Given the description of an element on the screen output the (x, y) to click on. 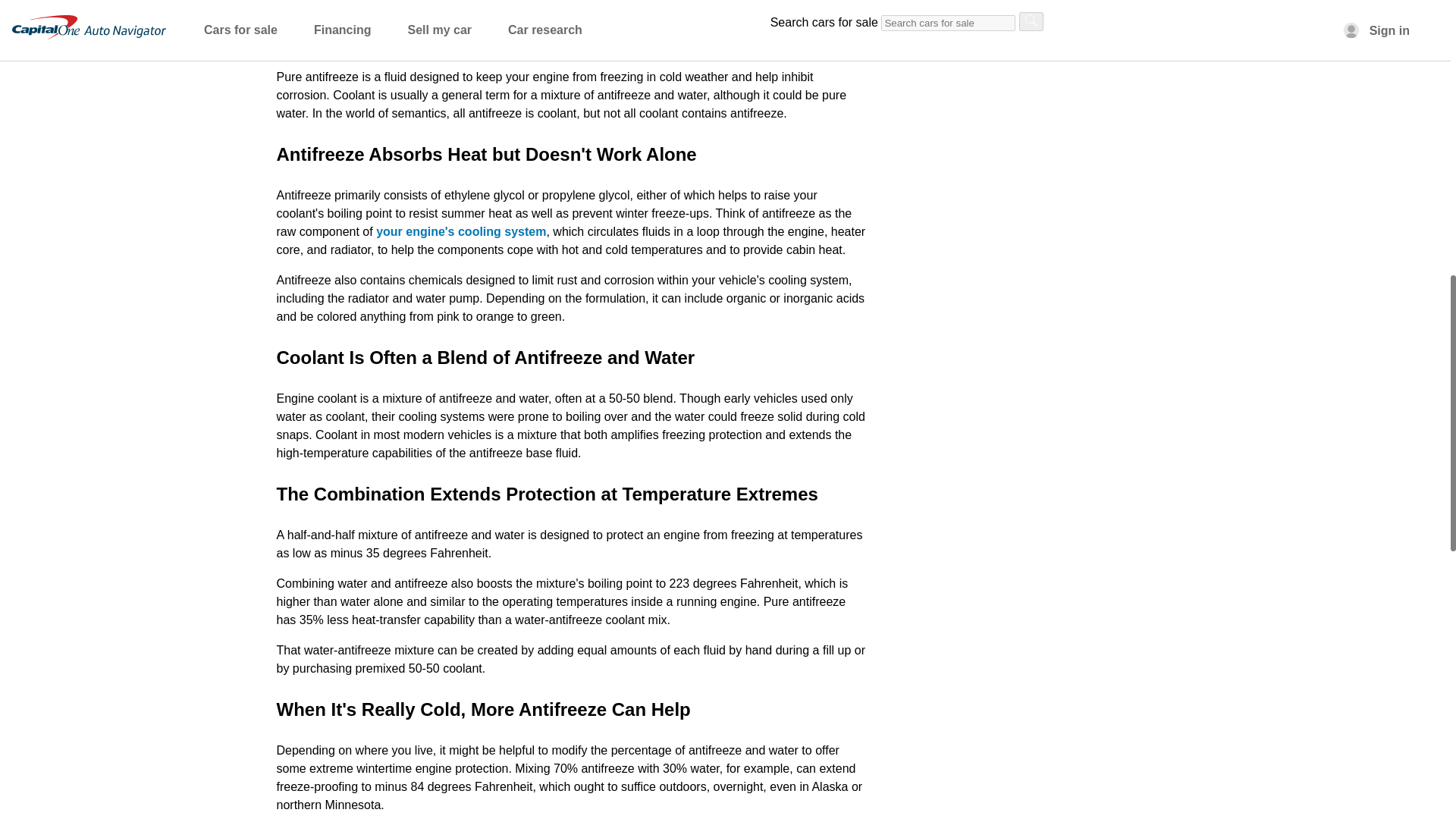
When it's really cold, more antifreeze can help (417, 2)
your engine's cooling system (460, 231)
